Given the description of an element on the screen output the (x, y) to click on. 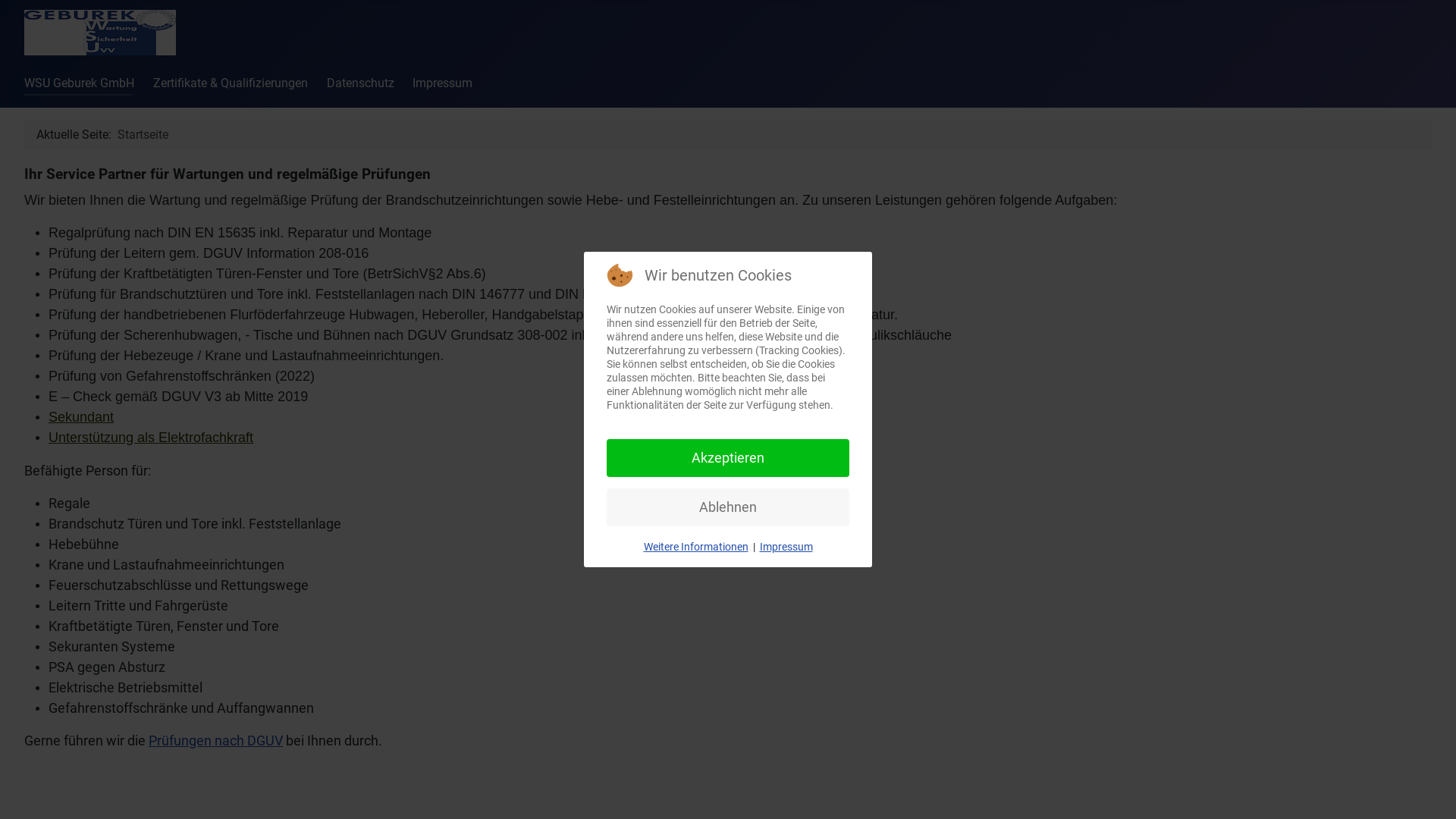
Impressum Element type: text (442, 82)
Datenschutz Element type: text (360, 82)
Impressum Element type: text (785, 546)
Akzeptieren Element type: text (727, 457)
WSU Geburek GmbH Element type: text (79, 82)
Zertifikate & Qualifizierungen Element type: text (230, 82)
Sekundant Element type: text (80, 416)
Ablehnen Element type: text (727, 507)
Weitere Informationen Element type: text (695, 546)
